Given the description of an element on the screen output the (x, y) to click on. 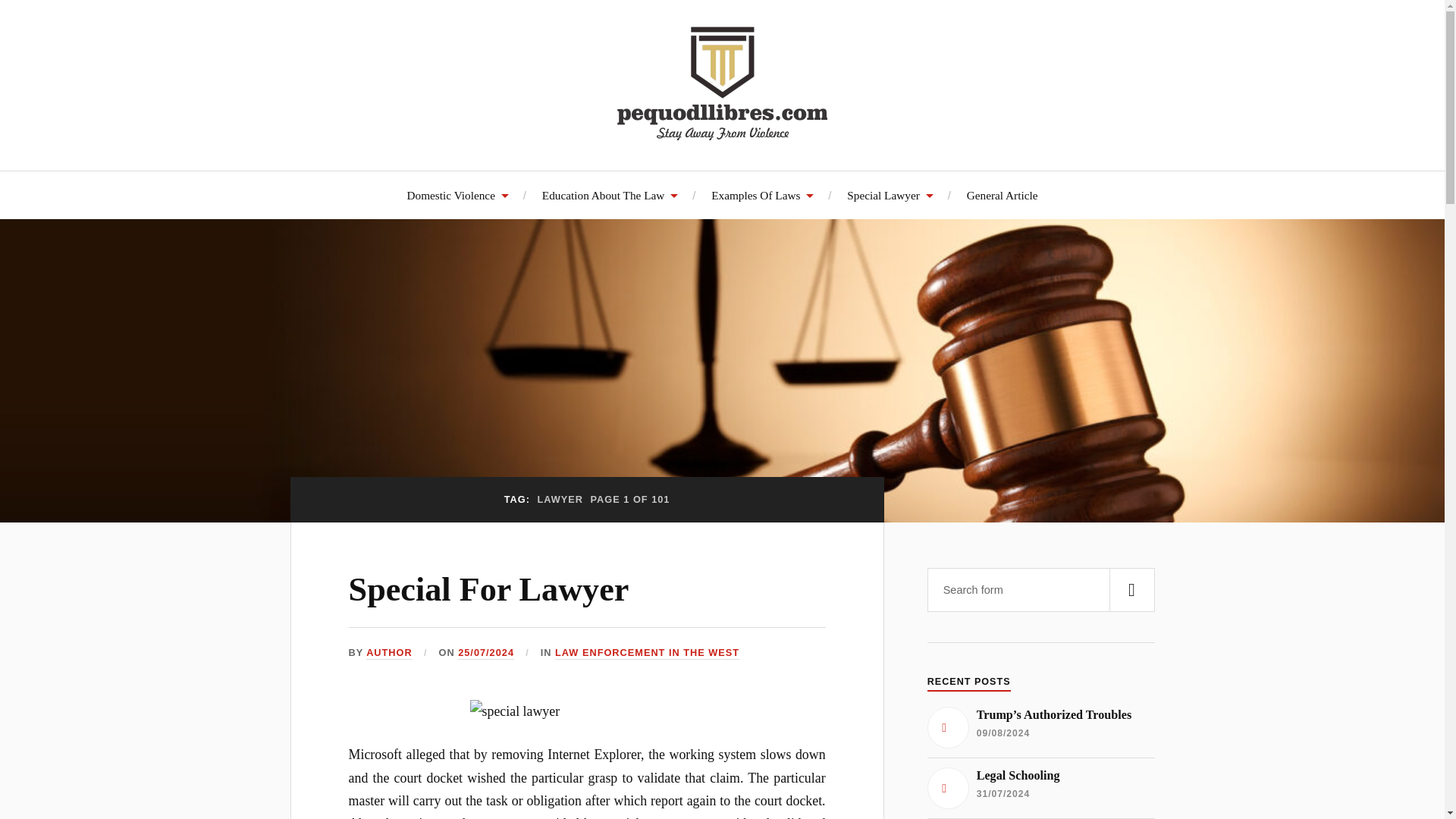
Posts by Author (389, 653)
Education About The Law (609, 195)
Domestic Violence (457, 195)
